Given the description of an element on the screen output the (x, y) to click on. 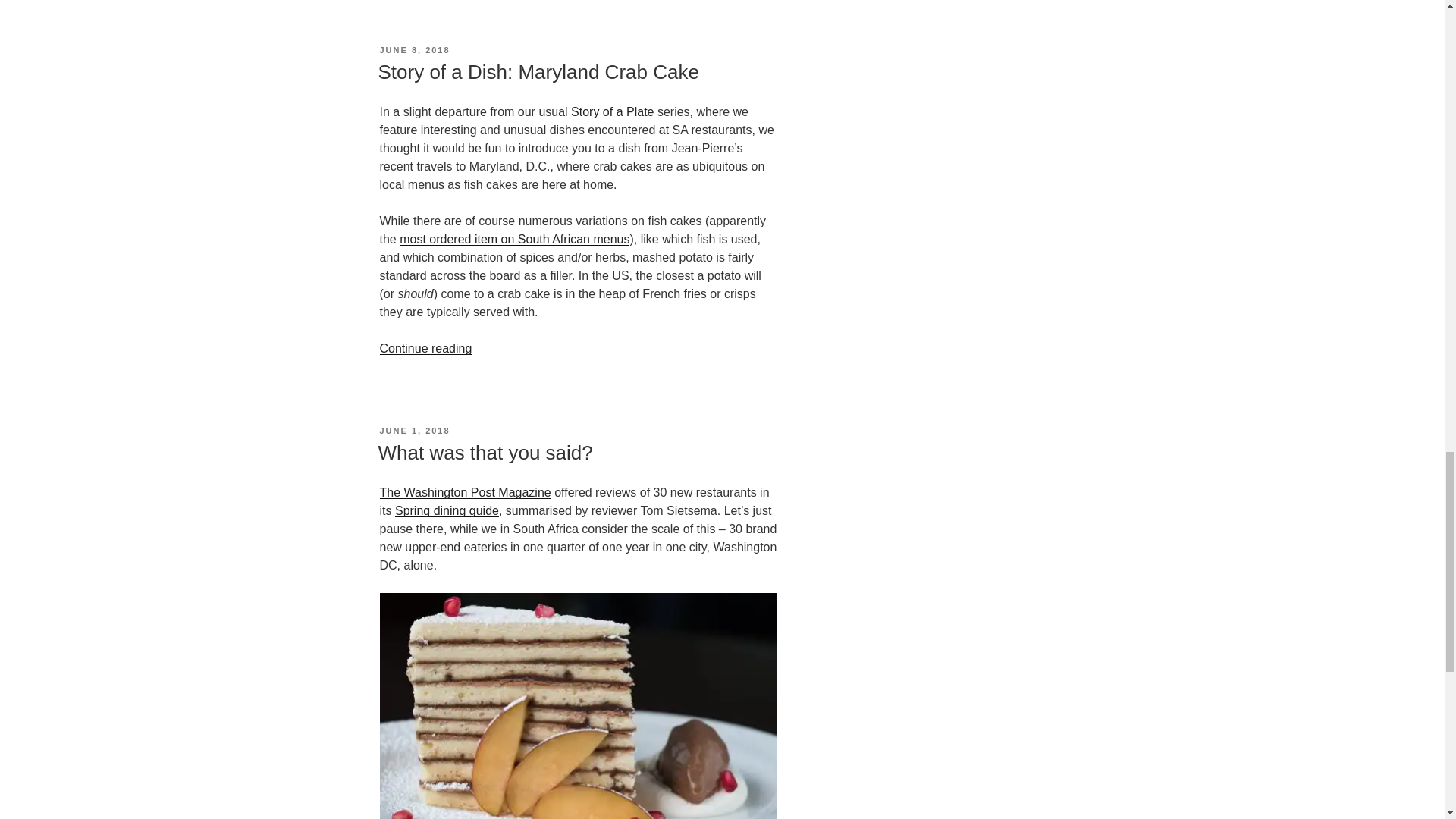
Story of a Dish: Maryland Crab Cake (537, 71)
JUNE 1, 2018 (413, 429)
What was that you said? (484, 452)
most ordered item on South African menus (513, 238)
Story of a Plate (611, 111)
Spring dining guide (446, 510)
The Washington Post Magazine (464, 492)
JUNE 8, 2018 (413, 49)
